Given the description of an element on the screen output the (x, y) to click on. 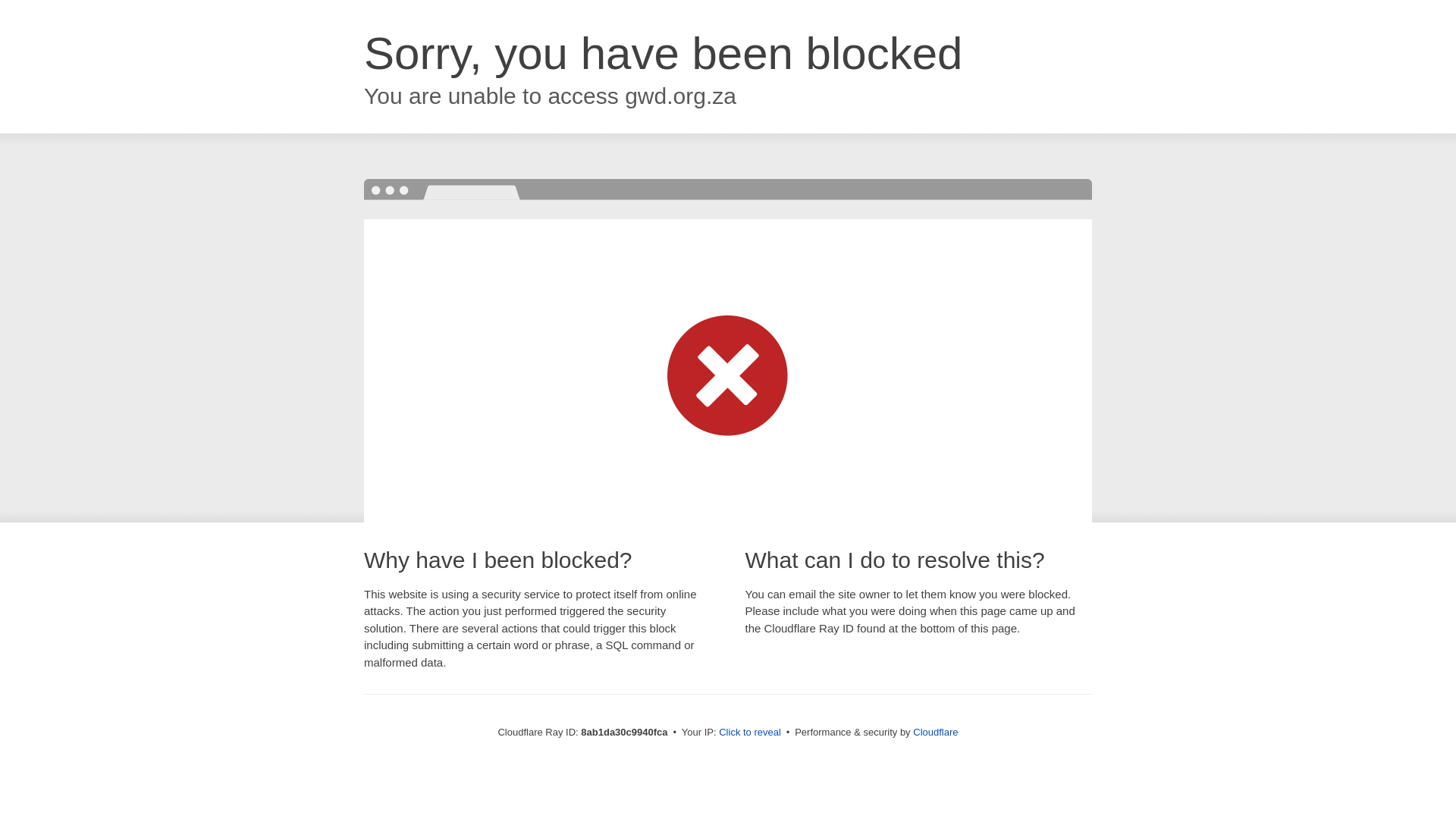
Cloudflare (935, 731)
Click to reveal (749, 732)
